Given the description of an element on the screen output the (x, y) to click on. 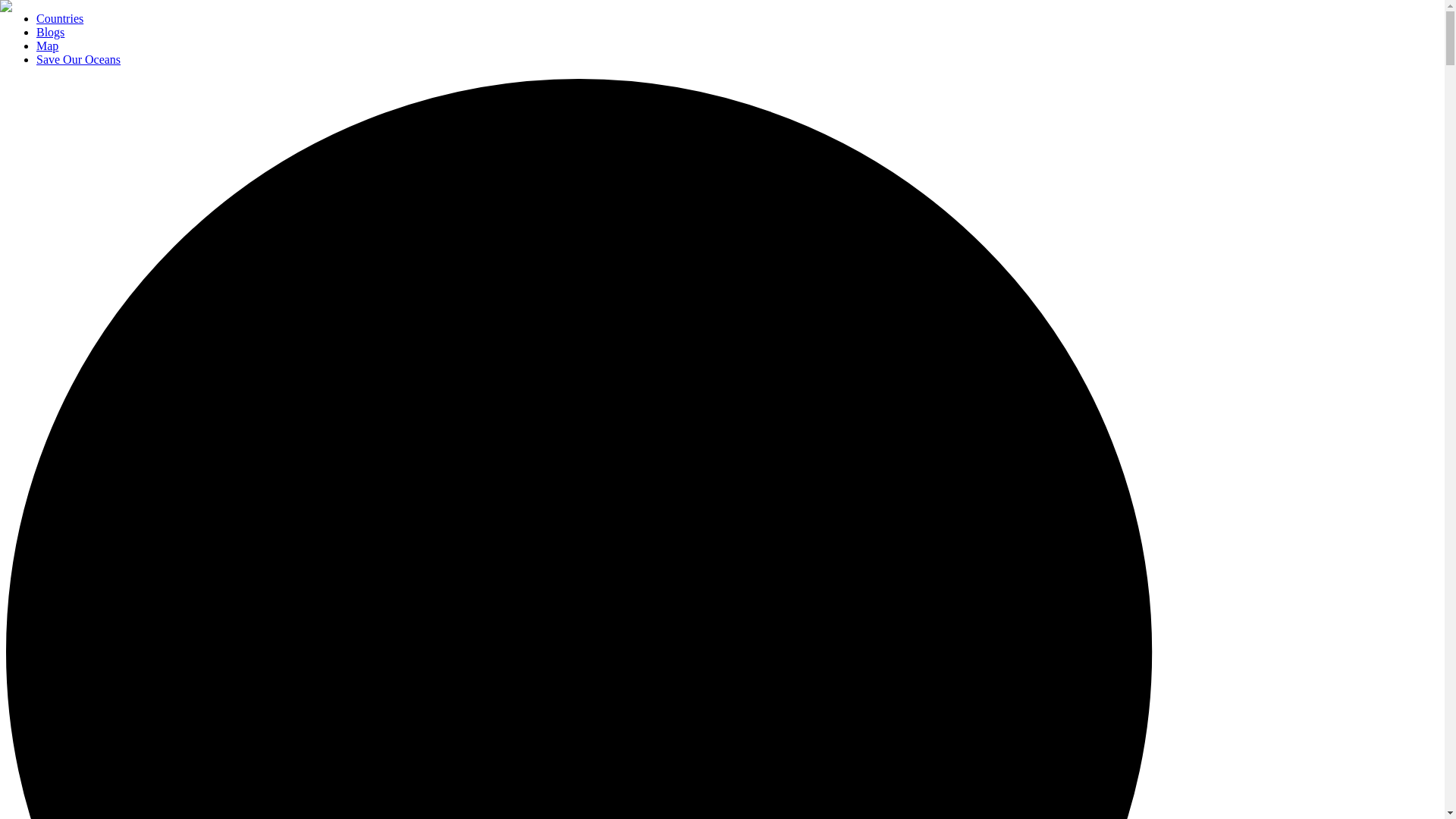
Save Our Oceans (78, 59)
Map (47, 45)
Countries (59, 18)
Map (47, 45)
Blogs (50, 31)
Blogs (50, 31)
Countries (59, 18)
Save Our Oceans (78, 59)
